Given the description of an element on the screen output the (x, y) to click on. 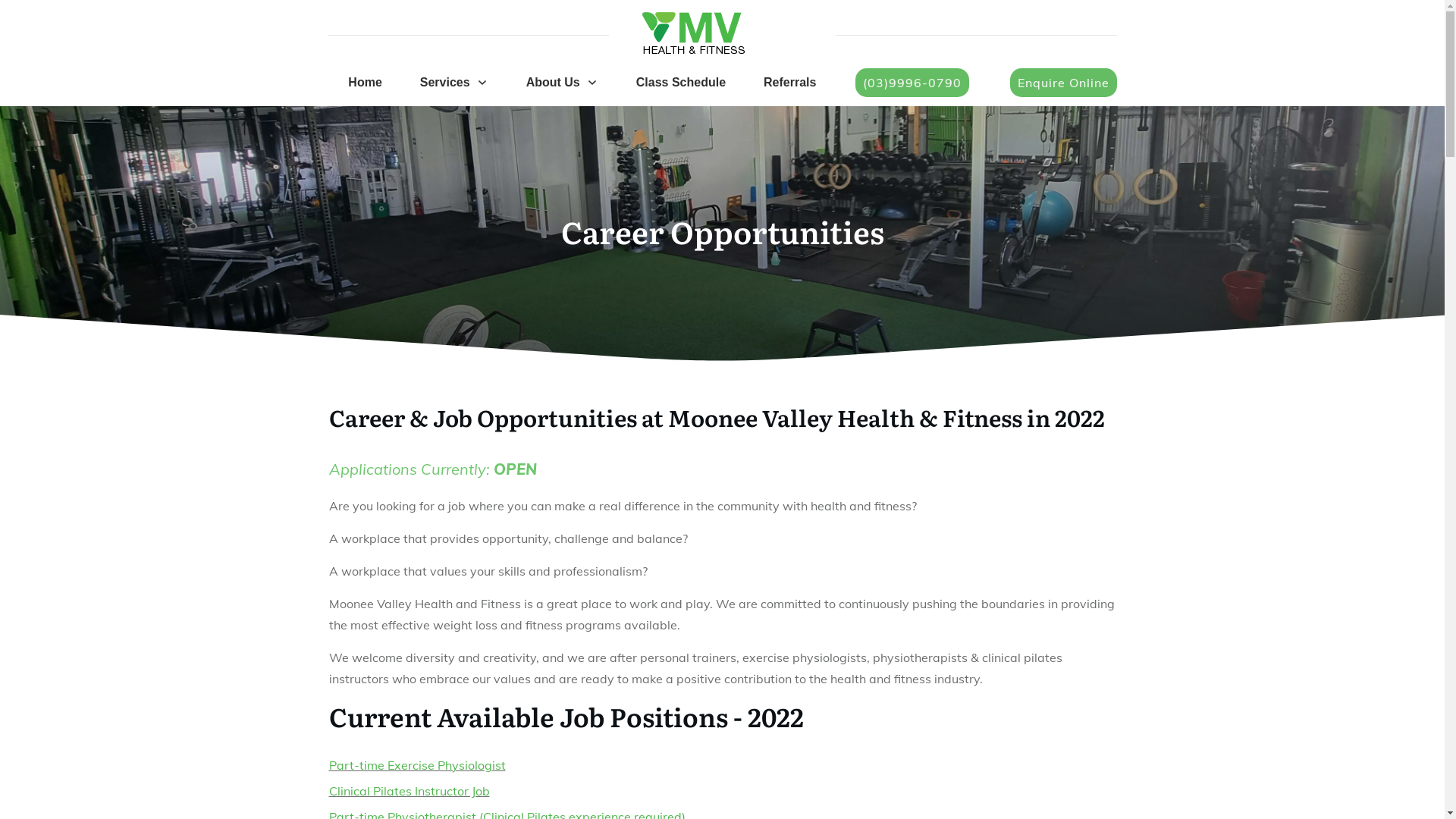
Services Element type: text (454, 82)
Referrals Element type: text (789, 82)
Part-time Exercise Physiologist Element type: text (417, 764)
(03)9996-0790 Element type: text (912, 82)
Enquire Online Element type: text (1063, 82)
Class Schedule Element type: text (680, 82)
Clinical Pilates Instructor Job Element type: text (409, 790)
Home Element type: text (364, 82)
About Us Element type: text (562, 82)
